Given the description of an element on the screen output the (x, y) to click on. 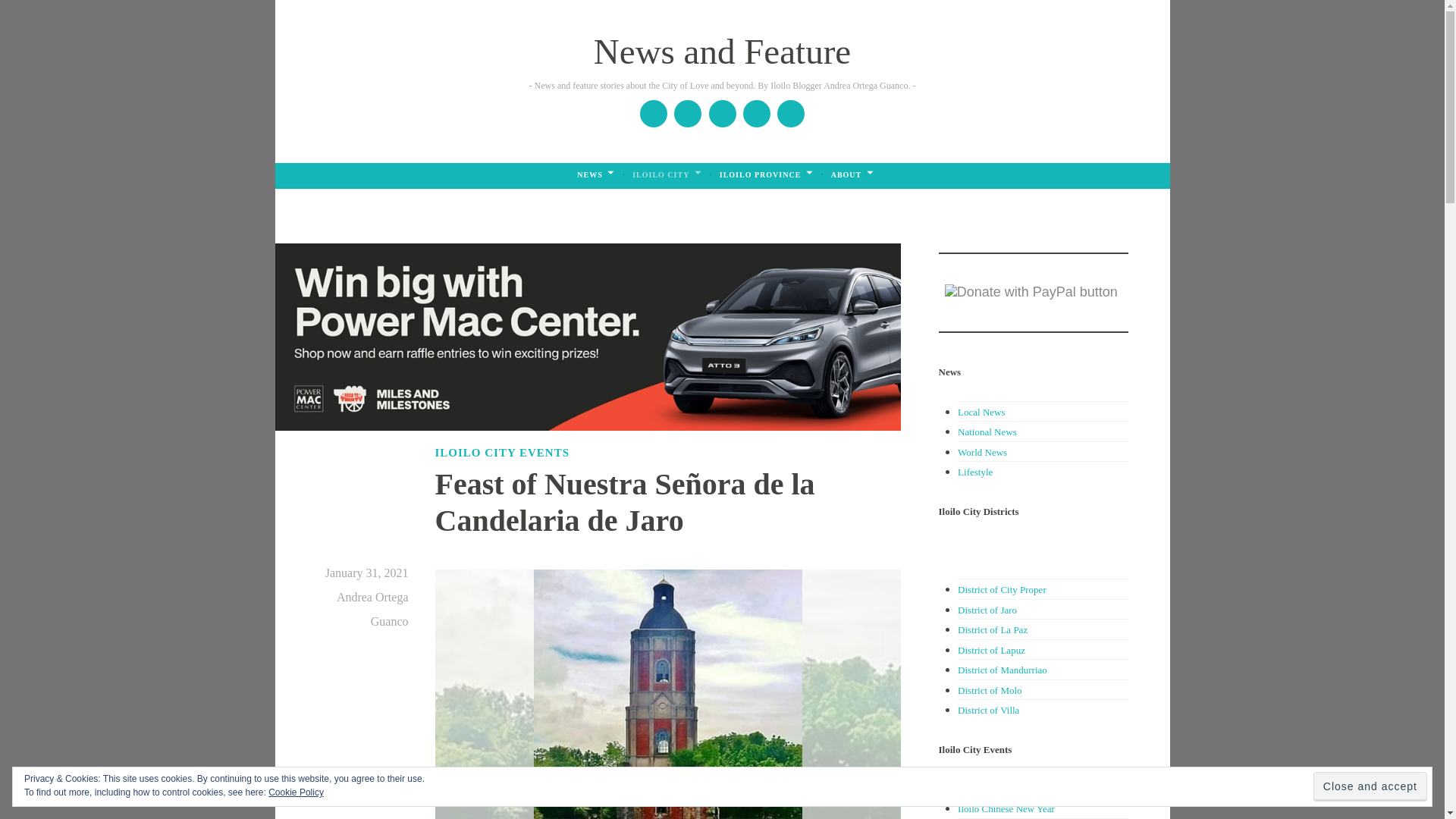
PayPal - The safer, easier way to pay online! (1031, 292)
ILOILO CITY (666, 175)
Twitter (721, 113)
Instagram (687, 113)
Close and accept (1369, 786)
Tiktok (790, 113)
Facebook (653, 113)
News and Feature (722, 51)
Youtube (756, 113)
NEWS (595, 175)
